Given the description of an element on the screen output the (x, y) to click on. 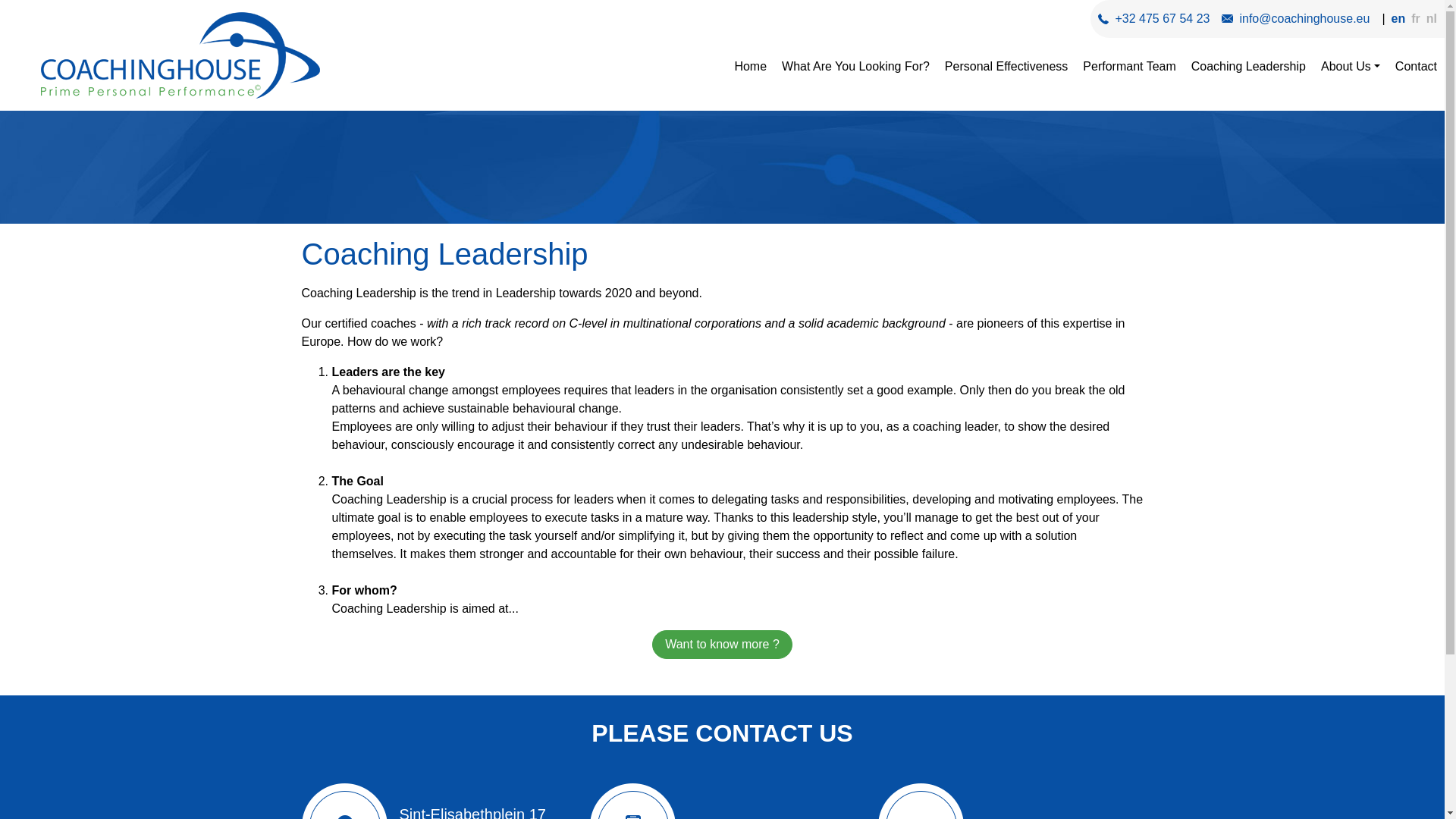
Personal Effectiveness Element type: text (1006, 66)
info@coachinghouse.eu Element type: text (1304, 18)
Performant Team Element type: text (1129, 66)
About Us Element type: text (1350, 66)
Home Element type: text (750, 66)
What Are You Looking For? Element type: text (855, 66)
nl Element type: text (1431, 18)
Contact Element type: text (1415, 66)
+32 475 67 54 23 Element type: text (1161, 18)
fr Element type: text (1415, 18)
en Element type: text (1398, 18)
Want to know more ? Element type: text (722, 644)
Coaching Leadership Element type: text (1248, 66)
